Given the description of an element on the screen output the (x, y) to click on. 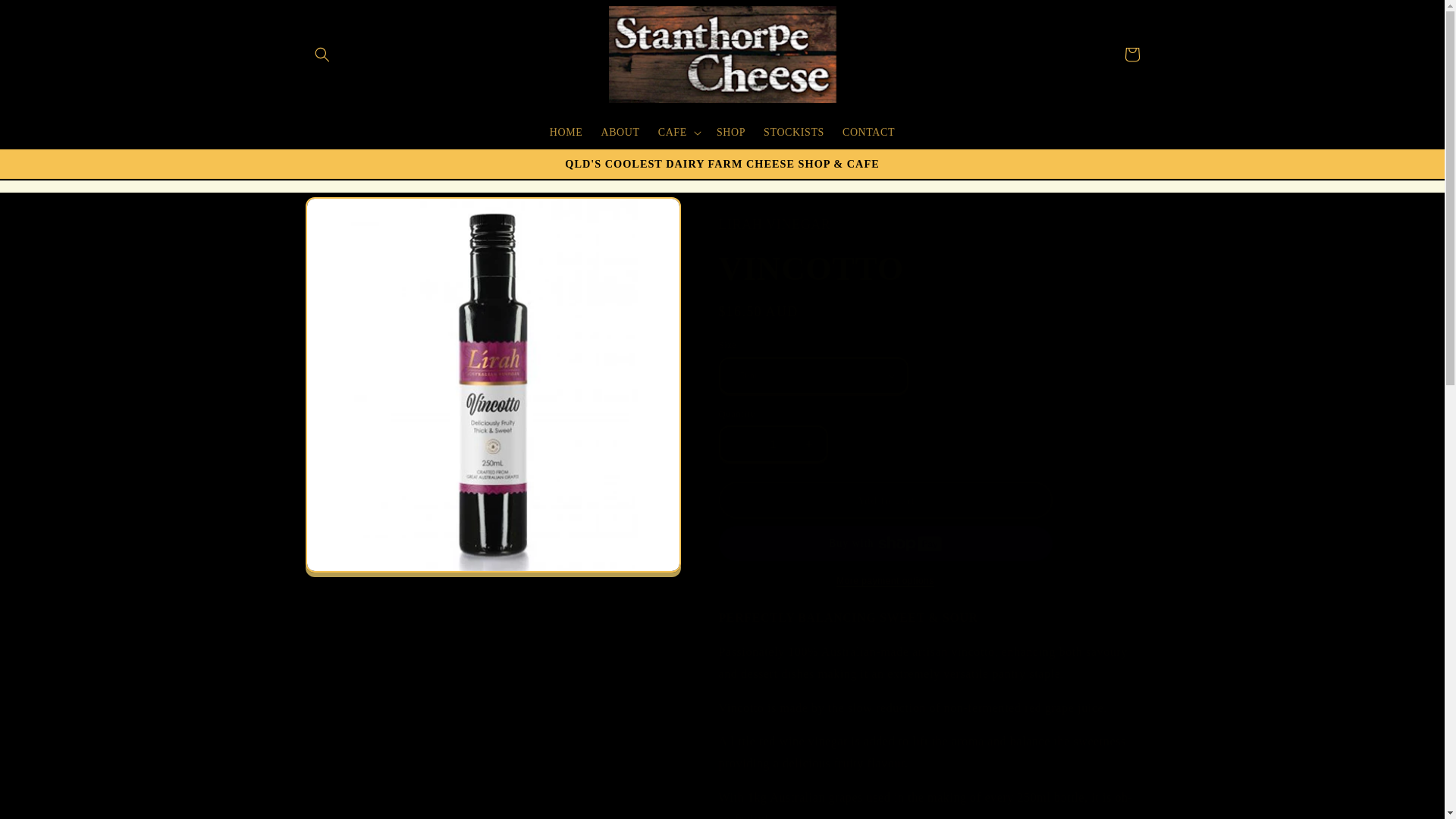
HOME (566, 132)
Skip to product information (351, 214)
1 (773, 443)
Decrease quantity for VINCOTTO (737, 443)
Cart (1131, 54)
Add to cart (885, 499)
Skip to content (46, 18)
ABOUT (619, 132)
CONTACT (868, 132)
SHOP (730, 132)
STOCKISTS (793, 132)
Increase quantity for VINCOTTO (808, 443)
